Given the description of an element on the screen output the (x, y) to click on. 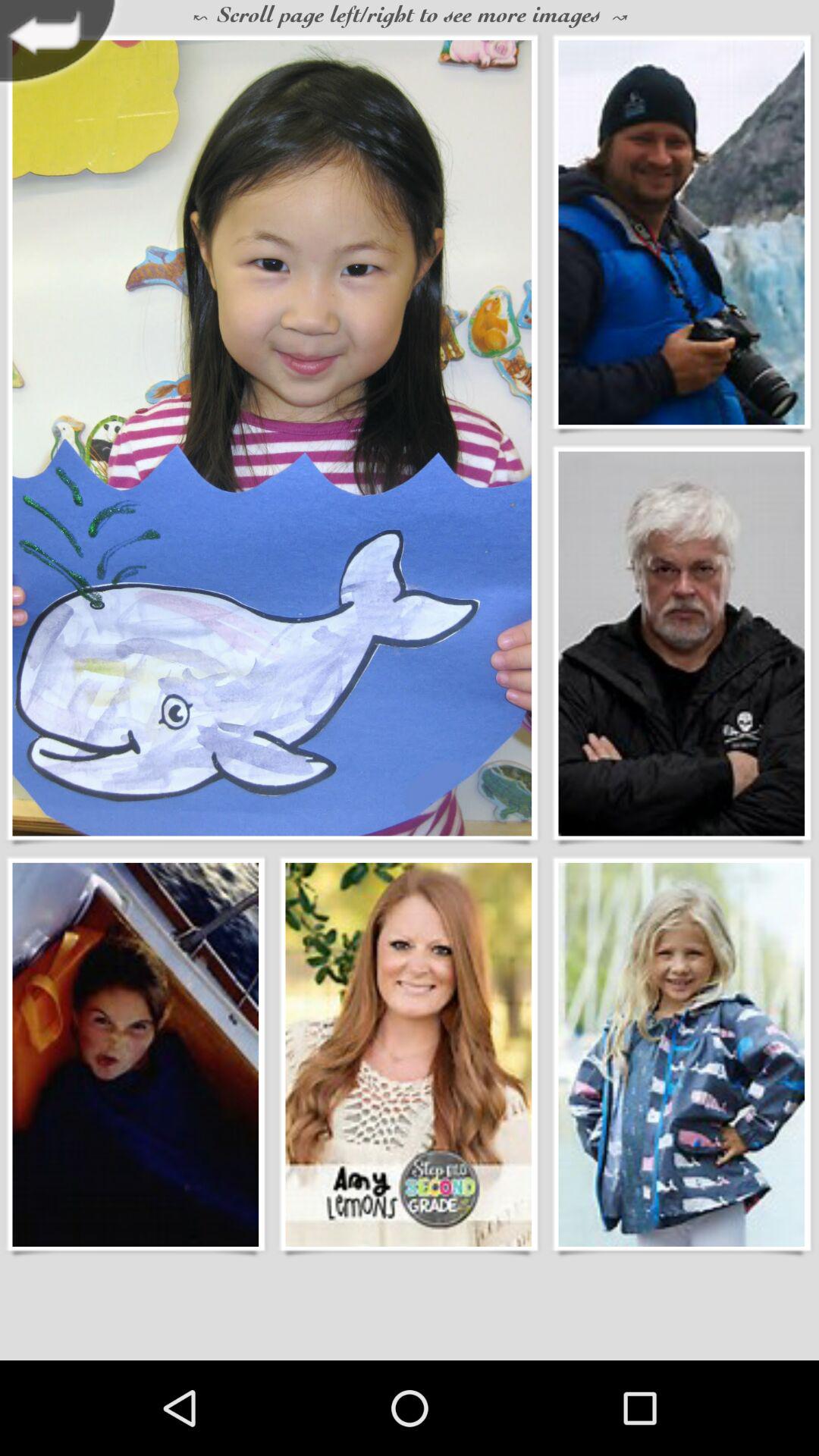
select the image of the small girl (681, 1054)
